Given the description of an element on the screen output the (x, y) to click on. 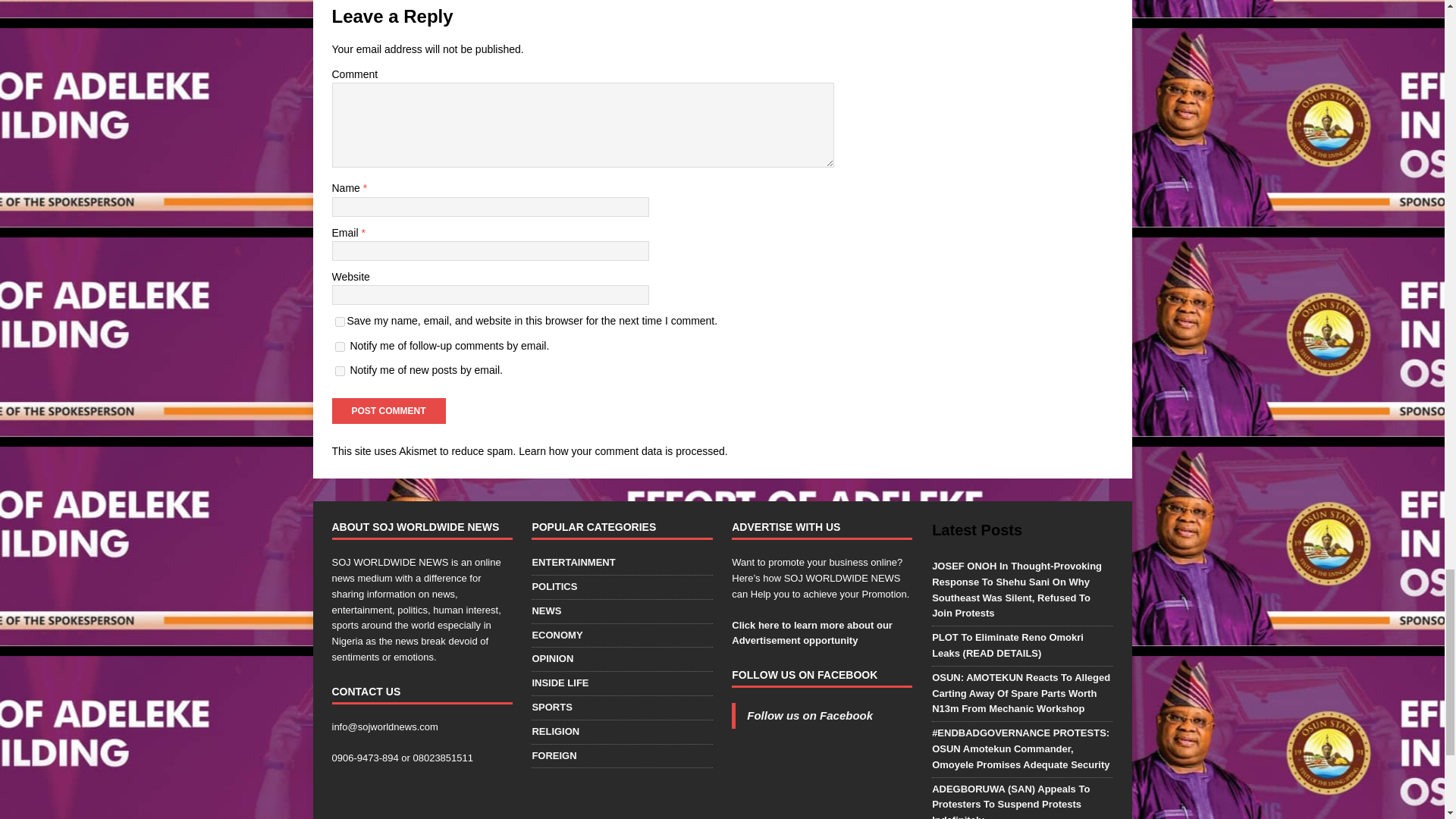
subscribe (339, 347)
yes (339, 321)
Post Comment (388, 411)
subscribe (339, 370)
Learn how your comment data is processed (621, 451)
Post Comment (388, 411)
